Given the description of an element on the screen output the (x, y) to click on. 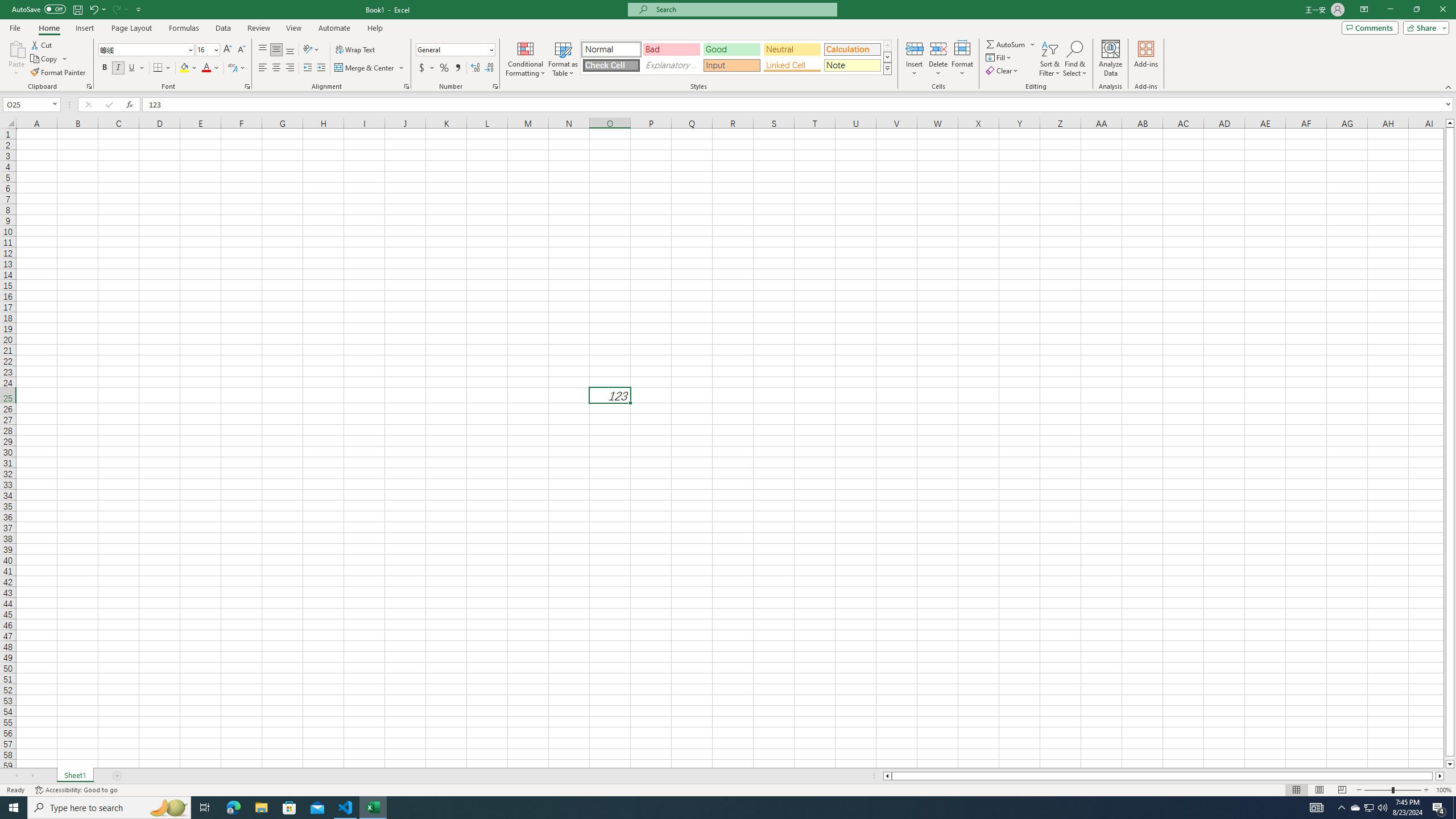
Zoom (1392, 790)
More Options (1033, 44)
AutoSum (1011, 44)
Review (258, 28)
Align Right (290, 67)
Clear (1003, 69)
Insert (83, 28)
Zoom In (1426, 790)
Underline (131, 67)
Add Sheet (117, 775)
Center (276, 67)
Find & Select (1075, 58)
Copy (49, 58)
View (293, 28)
